Given the description of an element on the screen output the (x, y) to click on. 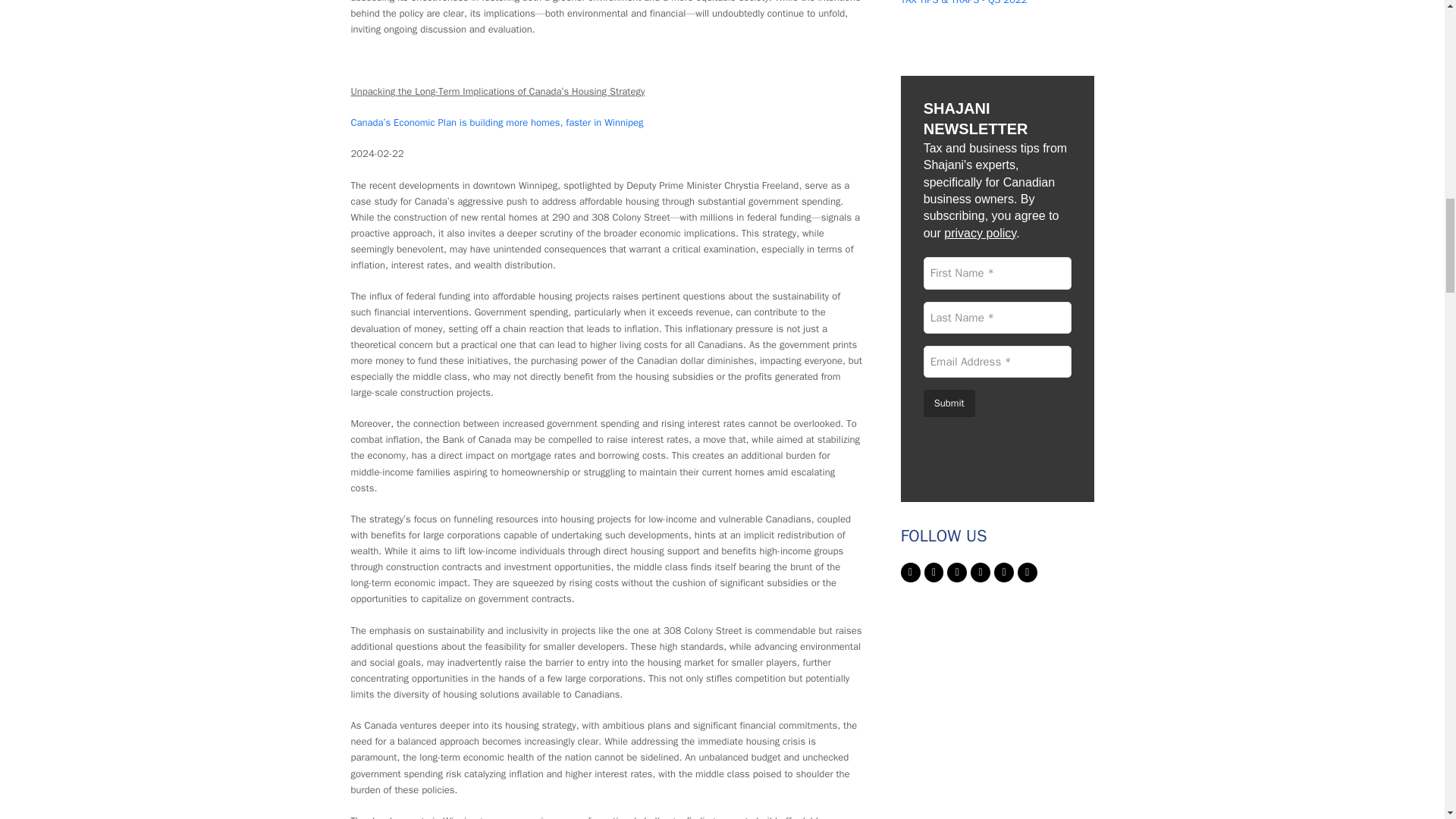
Instagram (956, 572)
Submit (949, 402)
Youtube (1003, 572)
Tiktok (1026, 572)
LinkedIn (980, 572)
Facebook (933, 572)
Twitter (910, 572)
